Given the description of an element on the screen output the (x, y) to click on. 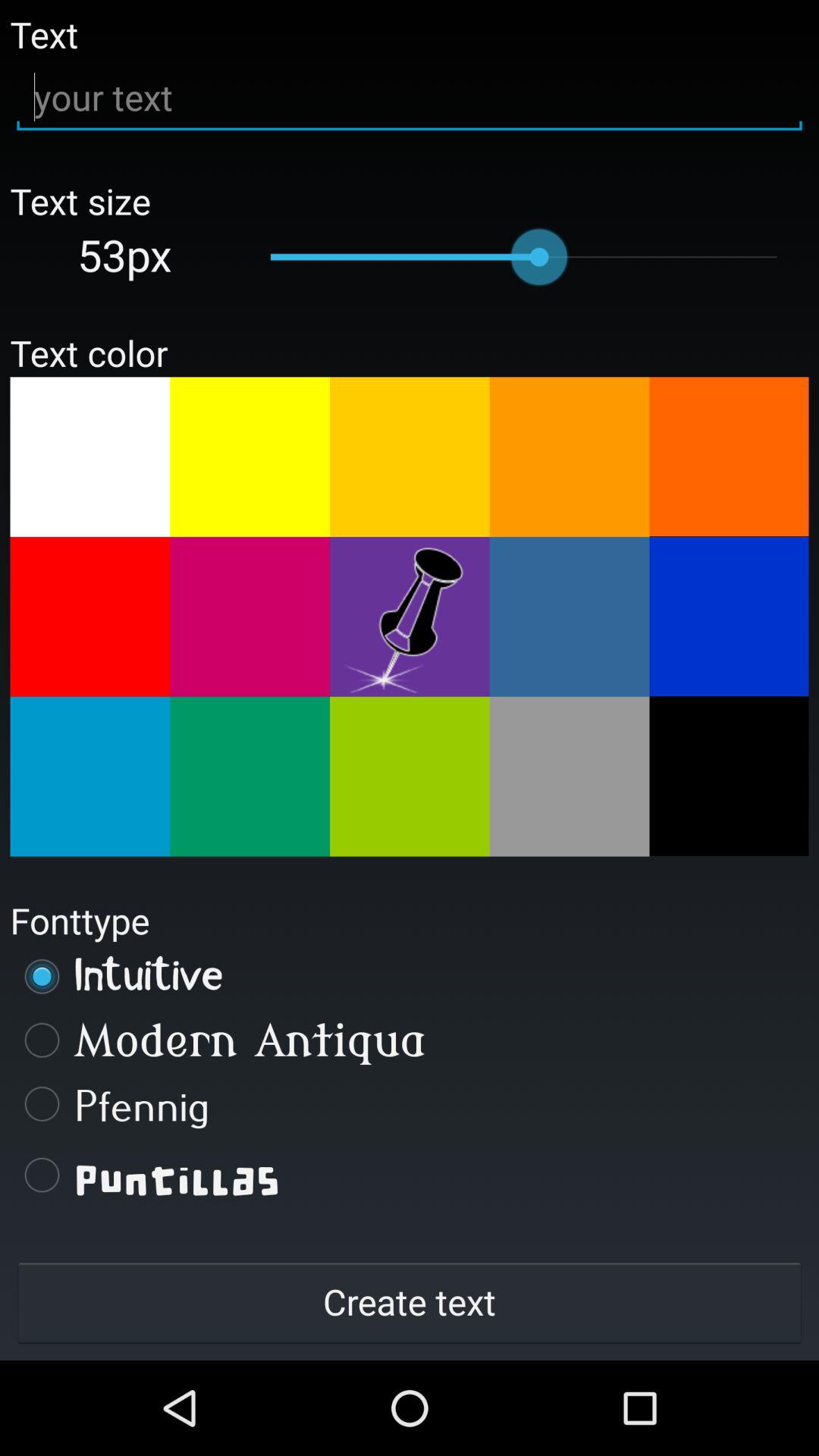
text color orange (569, 456)
